Given the description of an element on the screen output the (x, y) to click on. 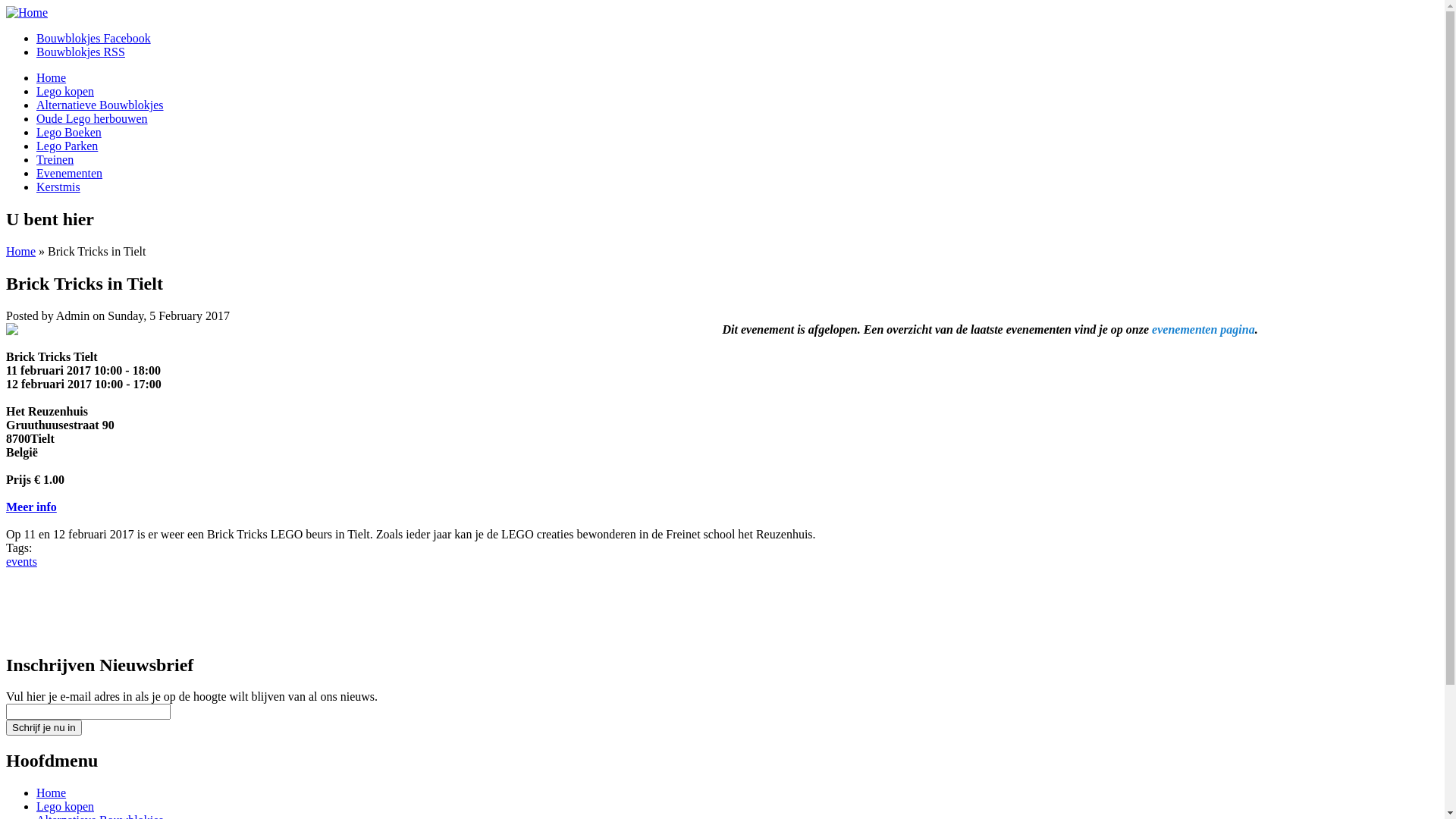
Evenementen Element type: text (69, 172)
Treinen Element type: text (54, 159)
evenementen pagina Element type: text (1203, 329)
Alternatieve Bouwblokjes Element type: text (99, 104)
Meer info Element type: text (31, 506)
Home Element type: text (50, 792)
Home Element type: hover (26, 12)
Home Element type: text (20, 250)
Lego Parken Element type: text (66, 145)
Bouwblokjes RSS Element type: text (80, 51)
Lego Boeken Element type: text (68, 131)
Bouwblokjes Facebook Element type: text (93, 37)
Home Element type: text (50, 77)
Oude Lego herbouwen Element type: text (91, 118)
events Element type: text (21, 561)
Lego kopen Element type: text (65, 806)
Lego kopen Element type: text (65, 90)
Schrijf je nu in Element type: text (43, 727)
Kerstmis Element type: text (58, 186)
